Given the description of an element on the screen output the (x, y) to click on. 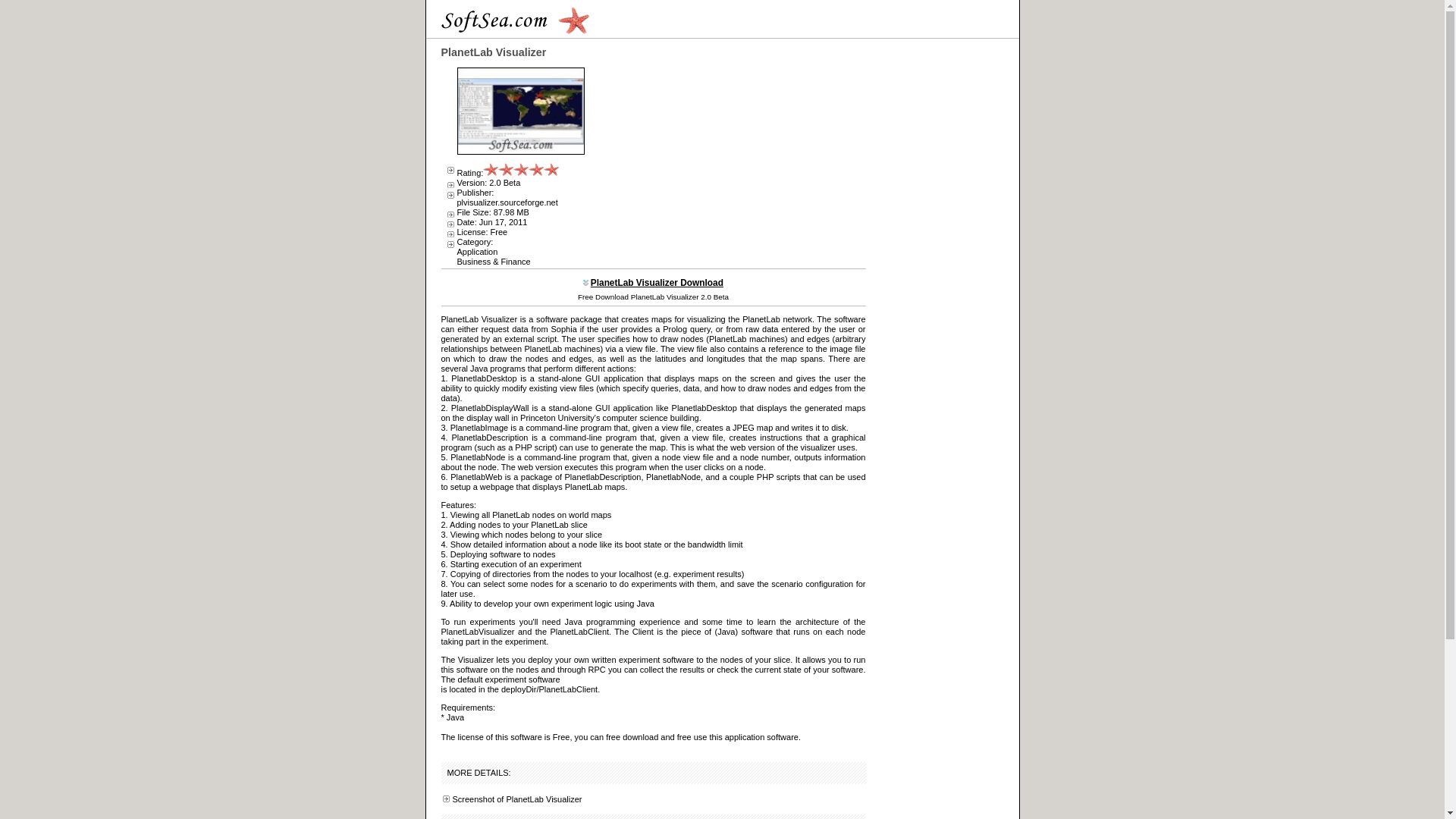
PlanetLab Visualizer Download (657, 282)
Screenshot of PlanetLab Visualizer (515, 798)
Advertisement (727, 152)
